Given the description of an element on the screen output the (x, y) to click on. 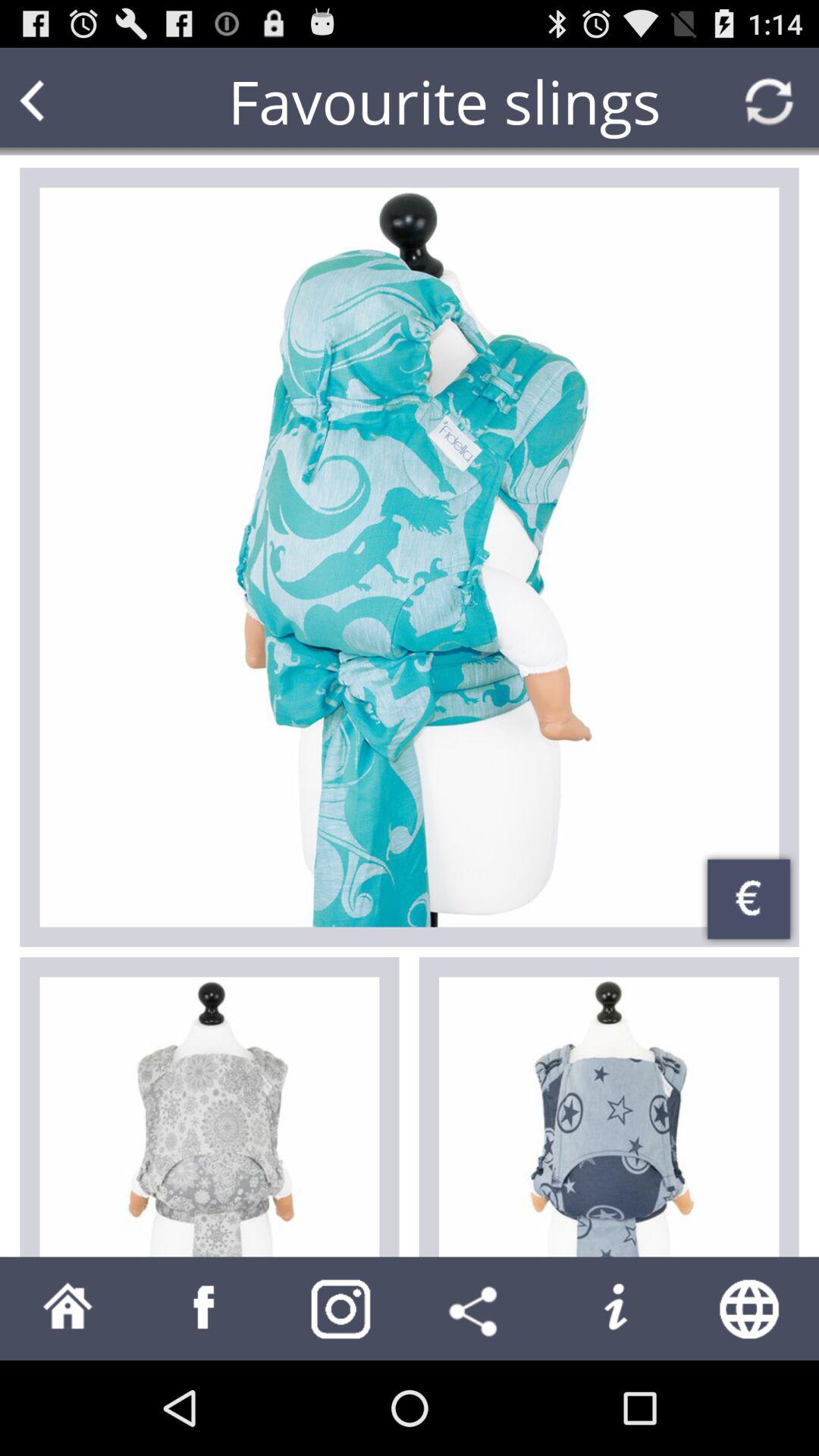
button to activate information (614, 1308)
